Given the description of an element on the screen output the (x, y) to click on. 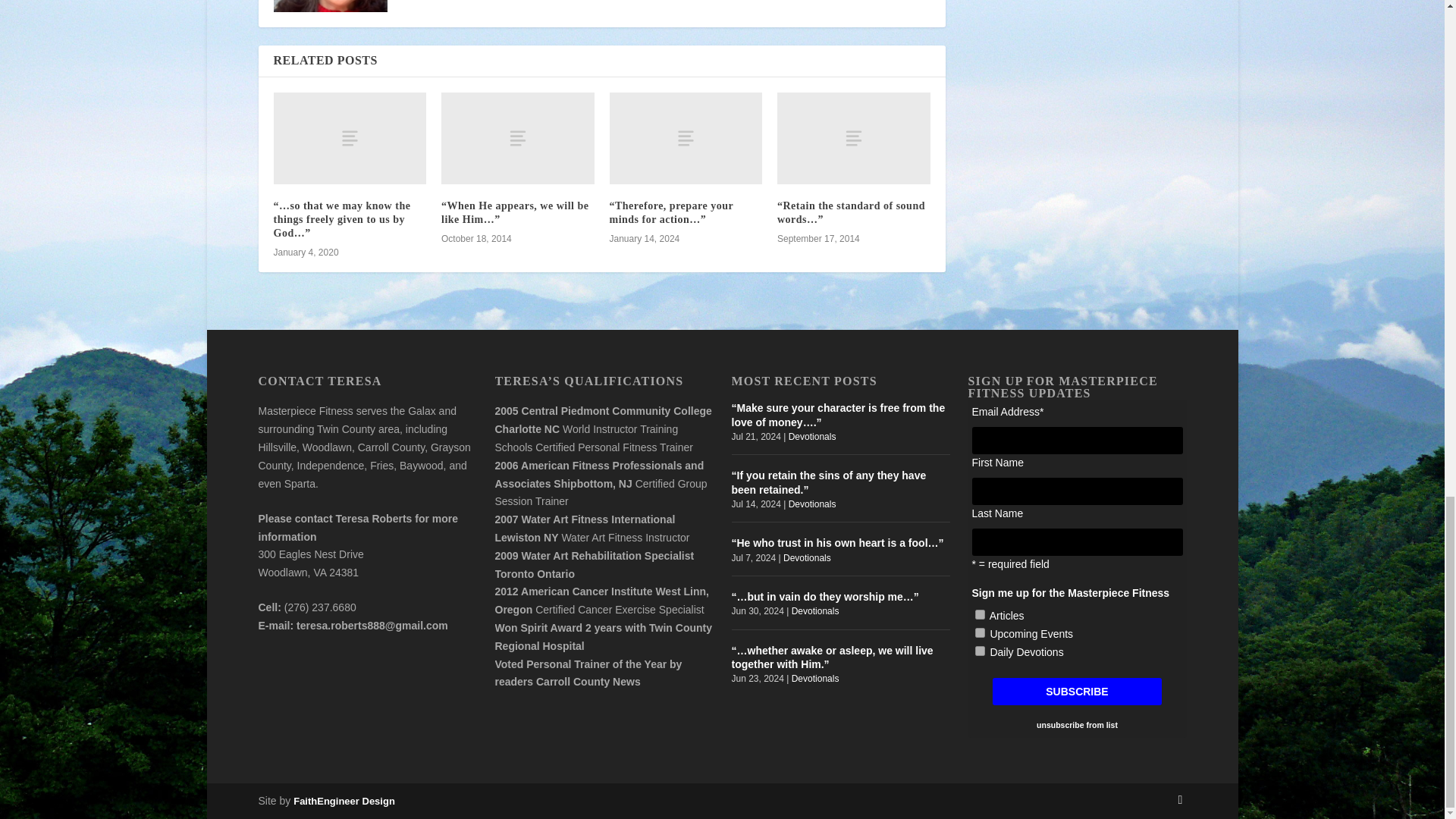
Upcoming Events (980, 633)
Daily Devotions (980, 651)
Articles (980, 614)
